Given the description of an element on the screen output the (x, y) to click on. 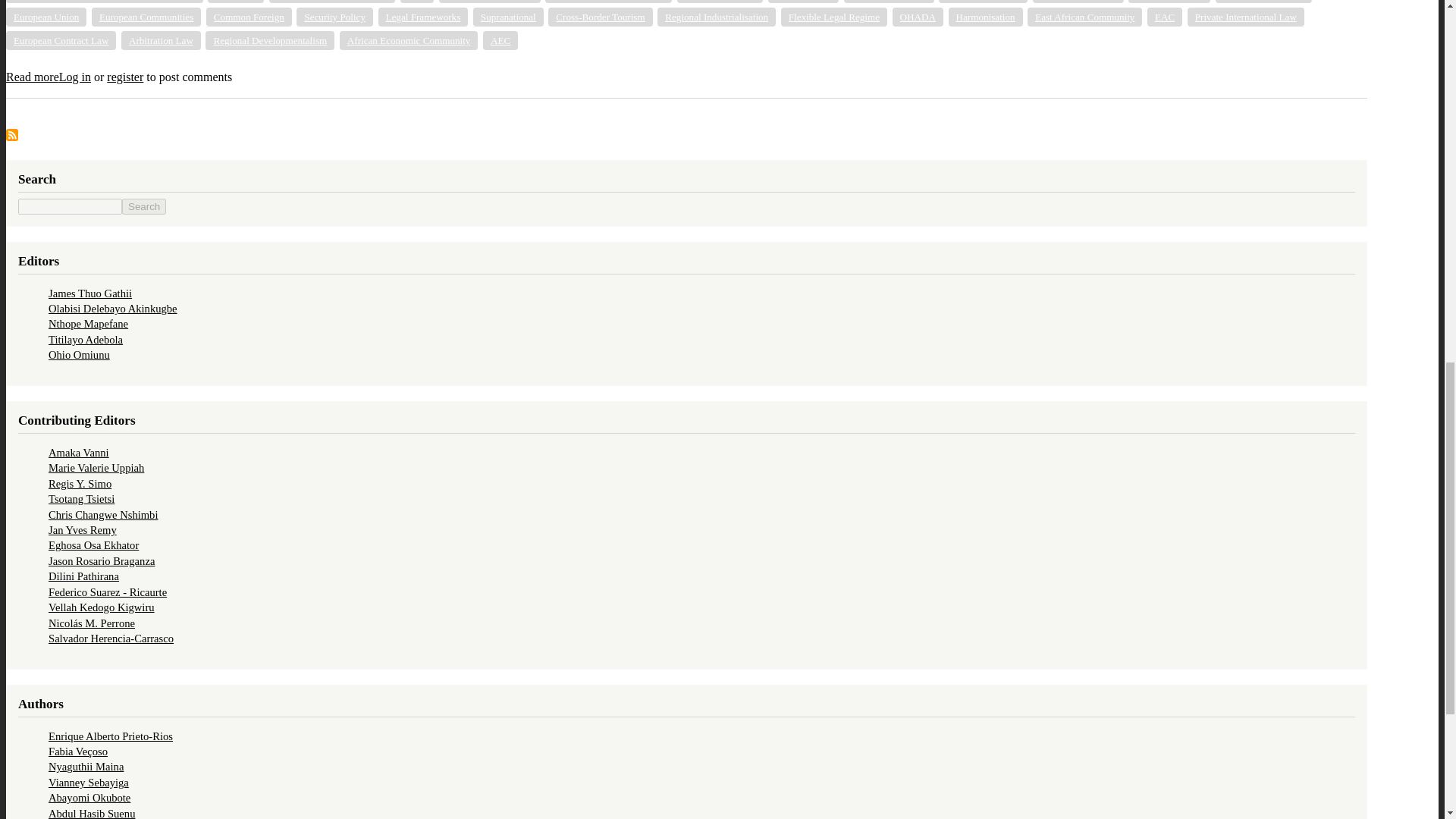
Market Integration (889, 1)
Enter the terms you wish to search for. (69, 206)
Economic Community of West African States (104, 1)
Regional Community Court (607, 1)
Economic Growth (983, 1)
RTA (416, 1)
ECOWAS (235, 1)
Liberalization (804, 1)
Economic Integration (489, 1)
Regional Trade Agreements (332, 1)
